Given the description of an element on the screen output the (x, y) to click on. 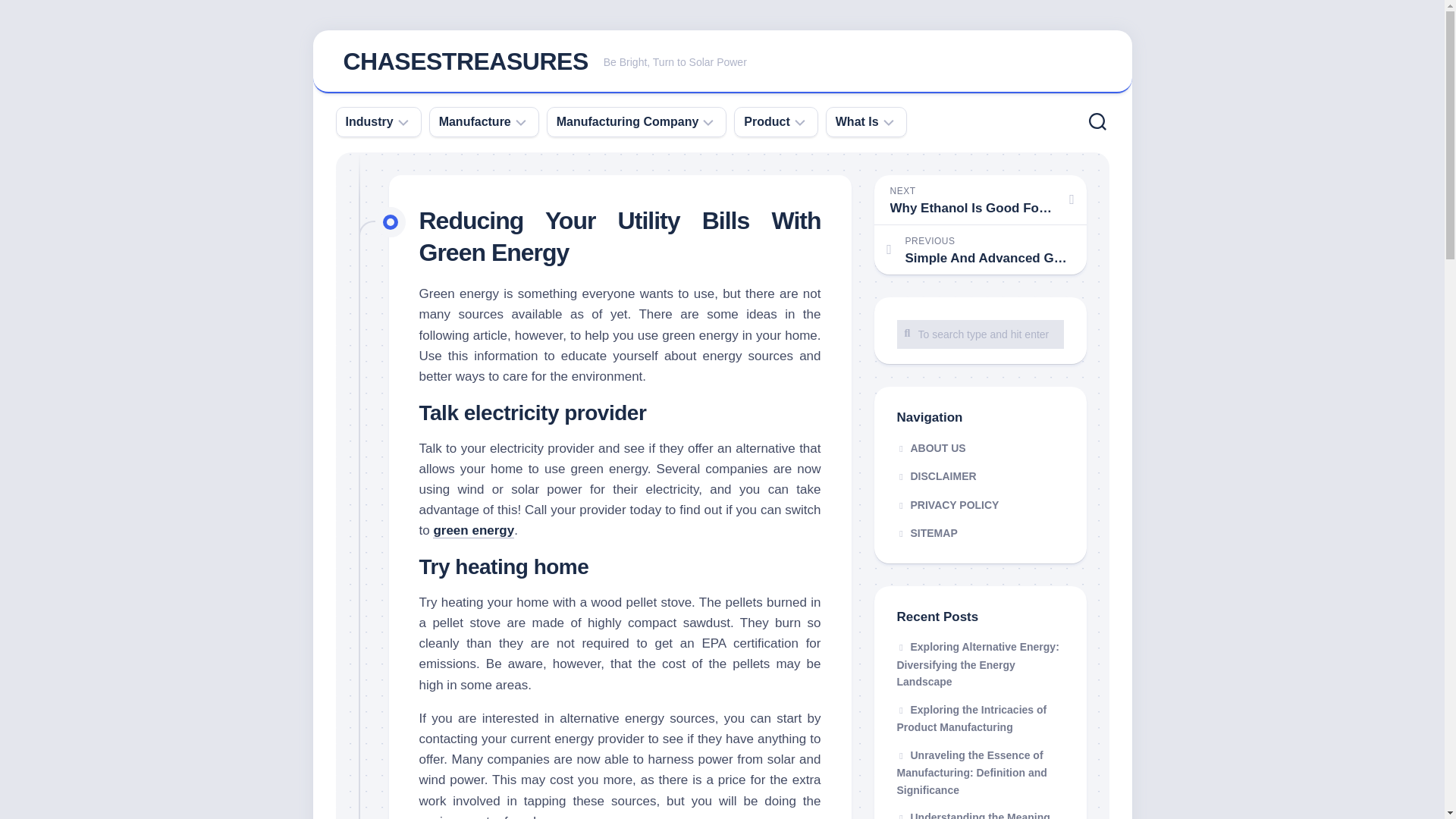
To search type and hit enter (979, 334)
What Is (857, 121)
Industry (369, 121)
To search type and hit enter (979, 334)
Manufacture (475, 121)
CHASESTREASURES (465, 61)
Manufacturing Company (722, 62)
green energy (627, 121)
Product (472, 530)
